Given the description of an element on the screen output the (x, y) to click on. 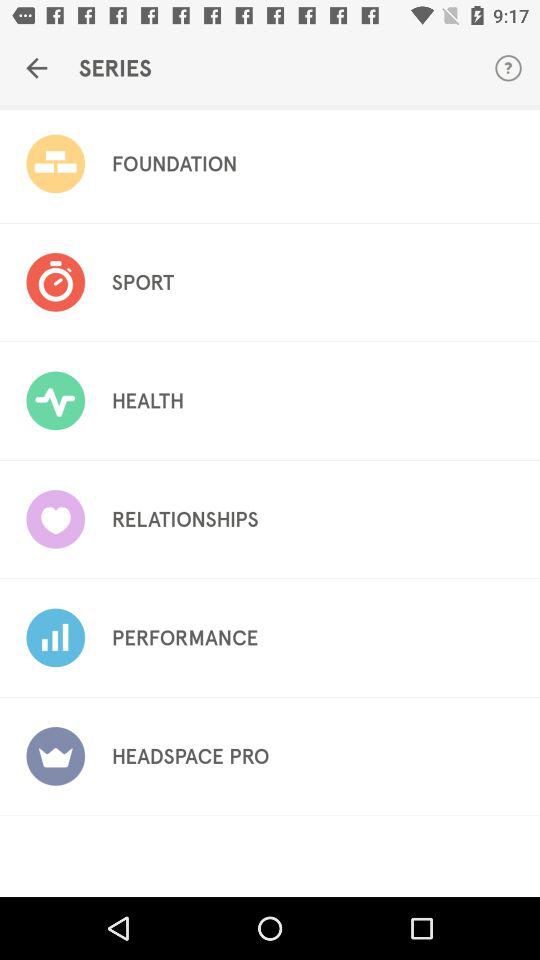
jump until the headspace pro icon (190, 756)
